Given the description of an element on the screen output the (x, y) to click on. 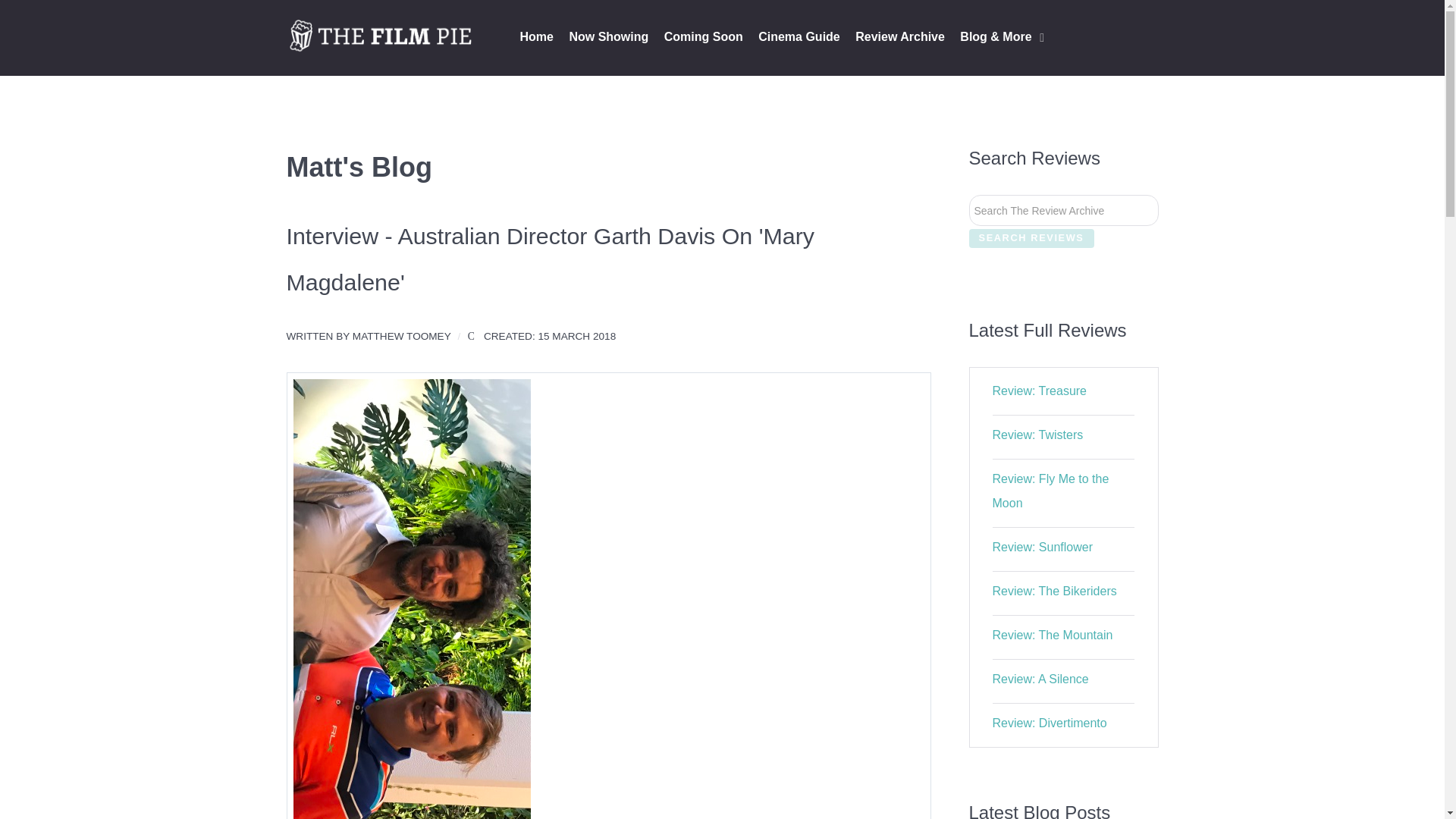
Review: A Silence (1040, 678)
Cinema Guide (799, 38)
Review Archive (900, 38)
Coming Soon (702, 38)
Review: Treasure (1039, 390)
Review: Divertimento (1049, 722)
Review: The Bikeriders (1054, 590)
Now Showing (608, 38)
Review: The Mountain (1052, 634)
Review: Sunflower (1042, 546)
Review: Twisters (1037, 434)
SEARCH REVIEWS (1031, 238)
Review: Fly Me to the Moon (1050, 490)
Home (536, 38)
